Given the description of an element on the screen output the (x, y) to click on. 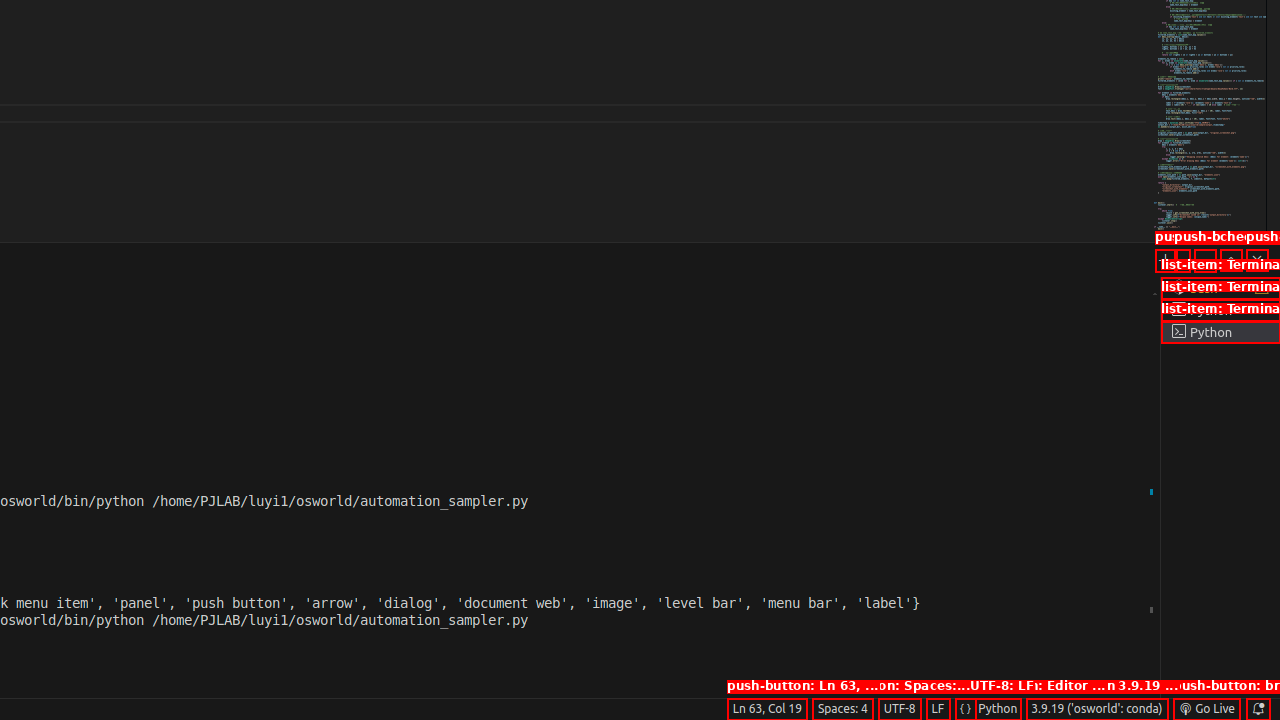
Maximize Panel Size Element type: check-box (1231, 260)
Python Element type: push-button (998, 709)
